Given the description of an element on the screen output the (x, y) to click on. 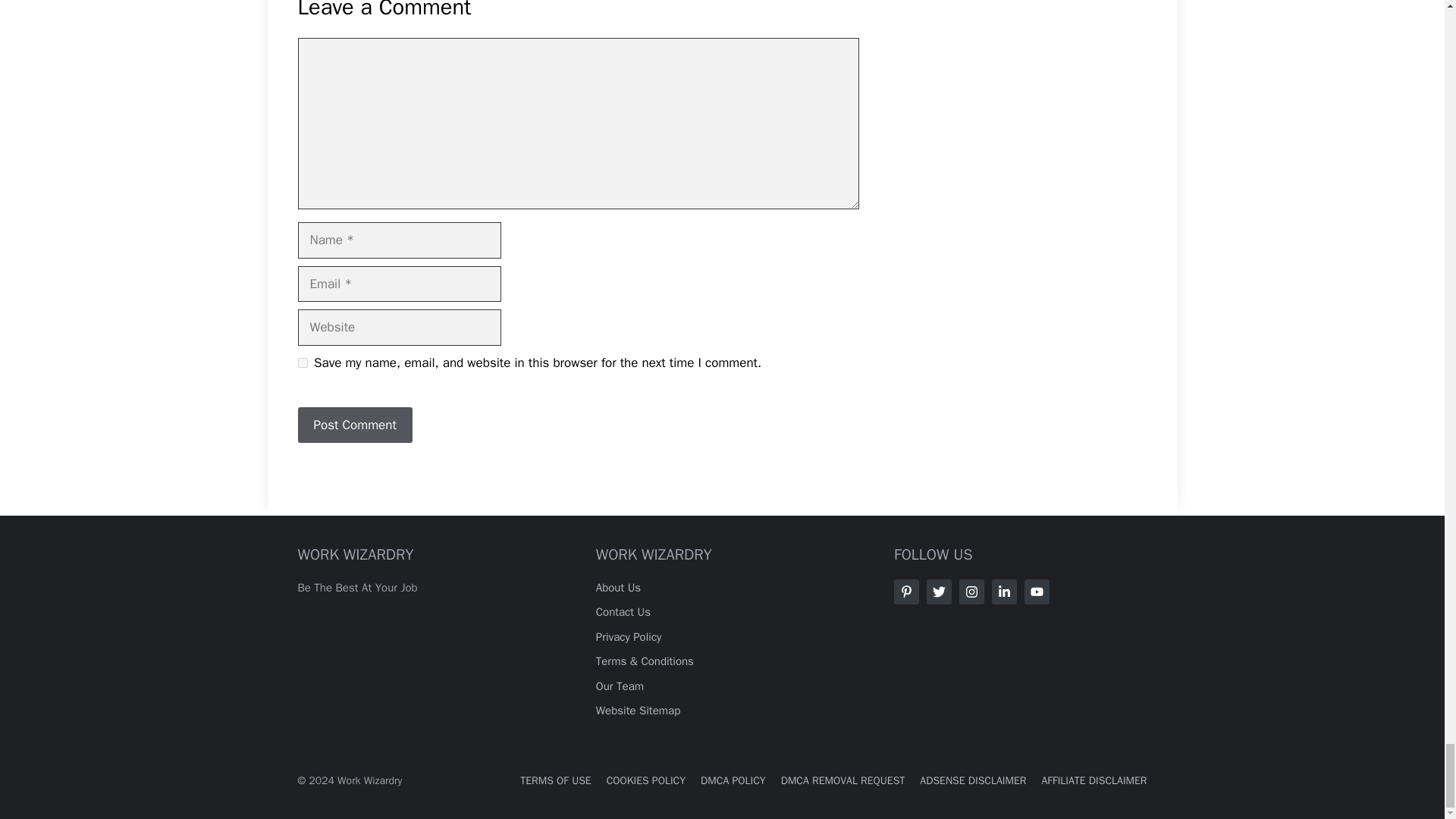
yes (302, 362)
Post Comment (354, 425)
Post Comment (354, 425)
